Given the description of an element on the screen output the (x, y) to click on. 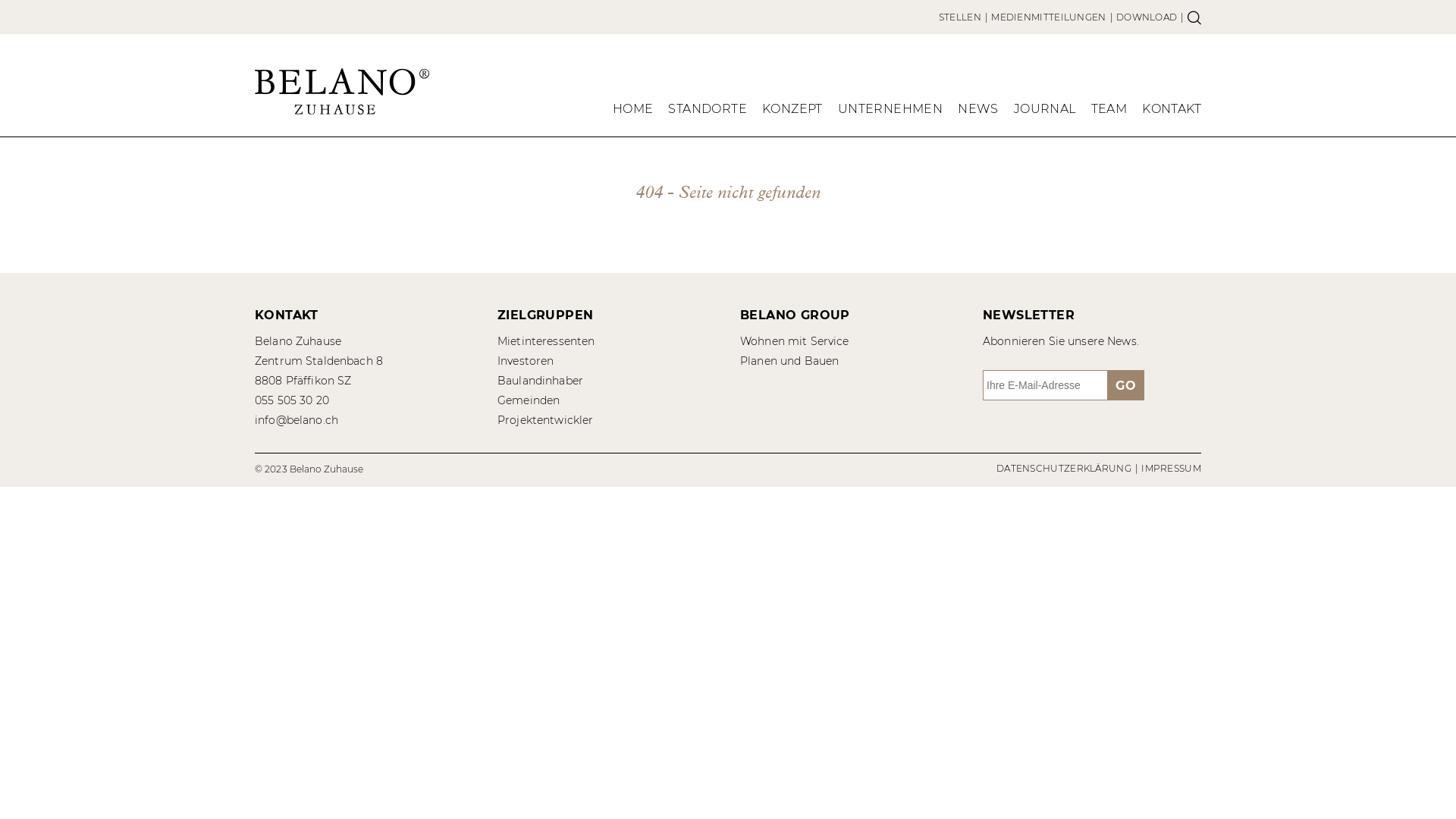
Projektentwickler Element type: text (545, 419)
info@belano.ch Element type: text (296, 419)
Suche Element type: hover (1194, 16)
Baulandinhaber Element type: text (540, 380)
HOME Element type: text (632, 111)
Planen und Bauen Element type: text (789, 360)
TEAM Element type: text (1109, 111)
Go Element type: text (1125, 385)
DOWNLOAD Element type: text (1146, 16)
STELLEN Element type: text (959, 16)
UNTERNEHMEN Element type: text (889, 111)
Mietinteressenten Element type: text (545, 341)
055 505 30 20 Element type: text (291, 400)
Gemeinden Element type: text (528, 400)
NEWS Element type: text (977, 111)
IMPRESSUM Element type: text (1171, 467)
JOURNAL Element type: text (1044, 111)
STANDORTE Element type: text (707, 111)
Wohnen mit Service Element type: text (794, 341)
MEDIENMITTEILUNGEN Element type: text (1048, 16)
KONTAKT Element type: text (1171, 111)
KONZEPT Element type: text (792, 111)
Investoren Element type: text (525, 360)
